Given the description of an element on the screen output the (x, y) to click on. 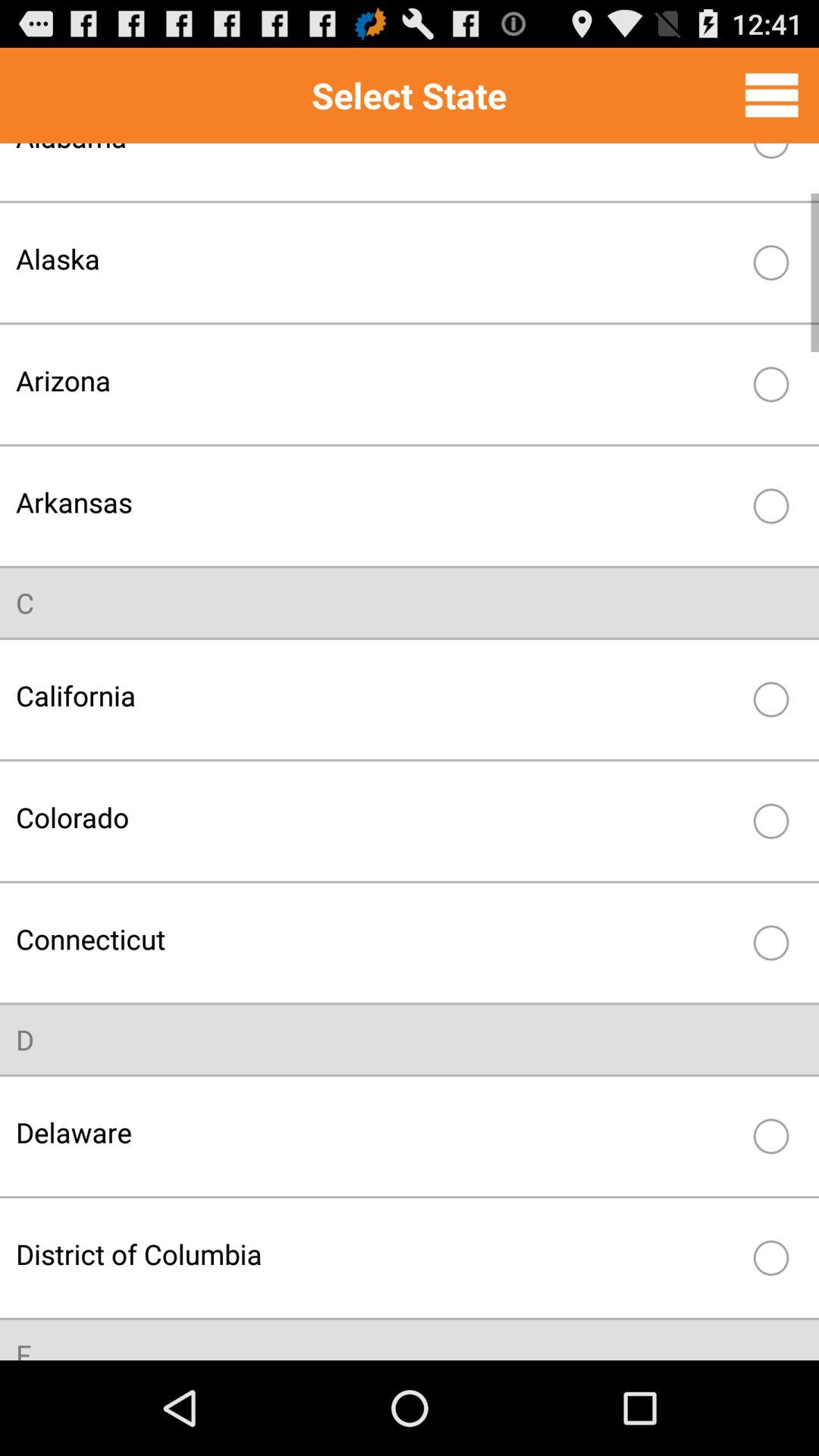
turn off delaware icon (377, 1132)
